Given the description of an element on the screen output the (x, y) to click on. 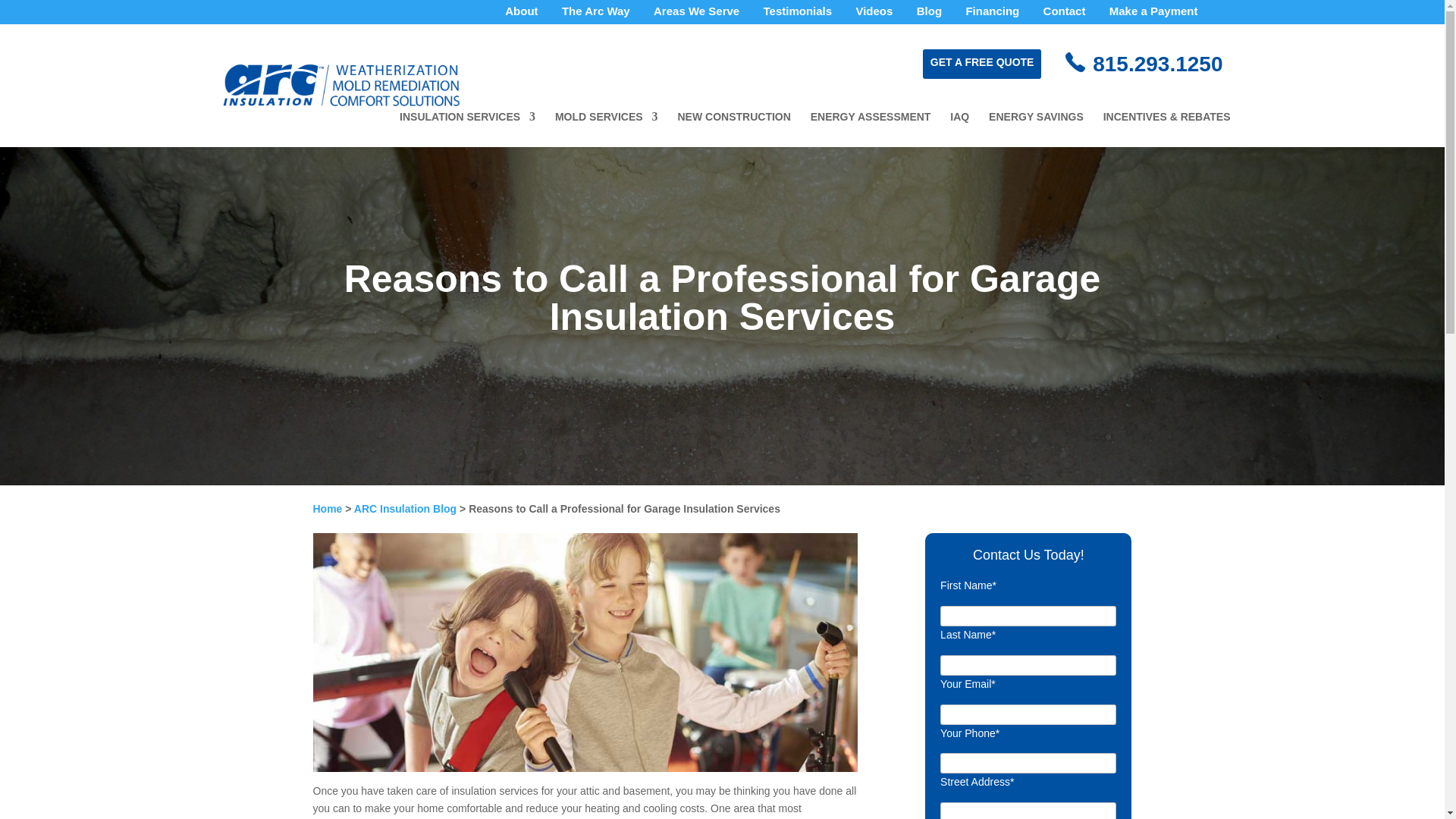
Areas We Serve (696, 15)
815.293.1250 (1158, 64)
Contact (1064, 15)
Go to ARC Insulation. (327, 508)
NEW CONSTRUCTION (734, 129)
Videos (874, 15)
MOLD SERVICES (606, 129)
The Arc Way (596, 15)
INSULATION SERVICES (466, 129)
GET A FREE QUOTE (981, 61)
Make a Payment (1153, 15)
Blog (929, 15)
Financing (992, 15)
ENERGY SAVINGS (1035, 129)
About (521, 15)
